Given the description of an element on the screen output the (x, y) to click on. 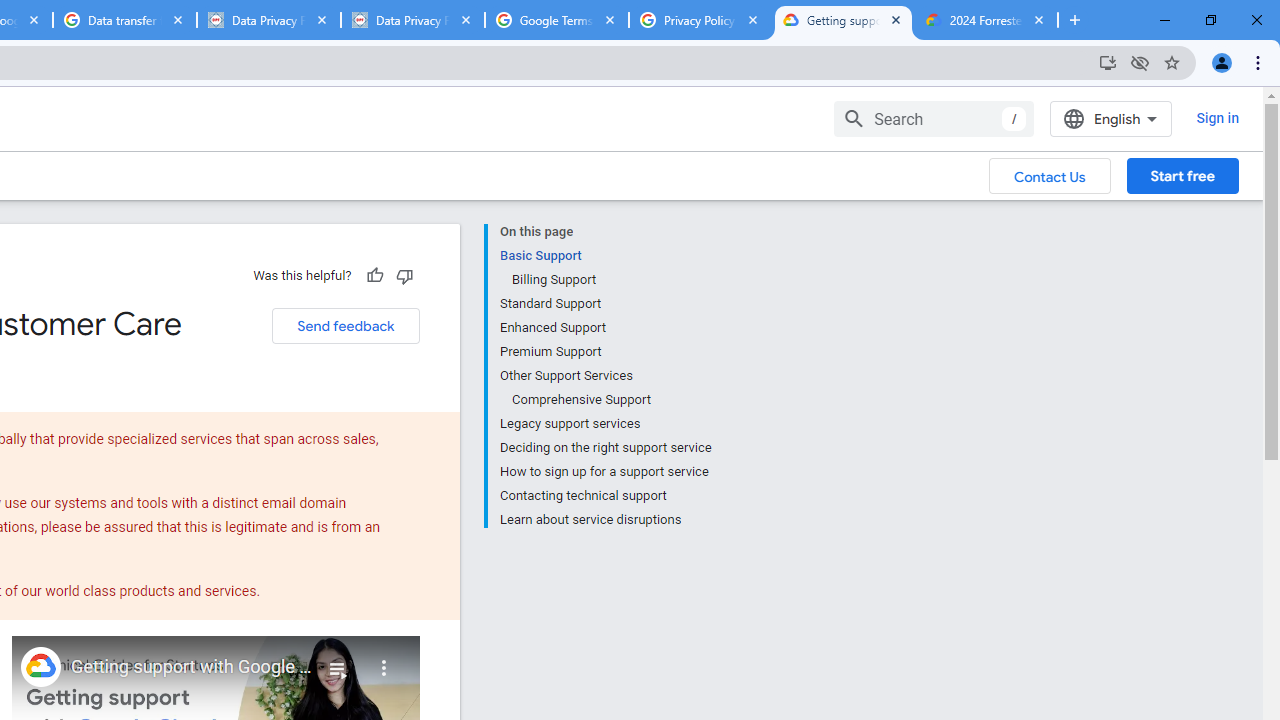
Enhanced Support (605, 327)
Search (934, 118)
Deciding on the right support service (605, 448)
Contact Us (1050, 175)
Start free (1182, 175)
English (1110, 118)
